Given the description of an element on the screen output the (x, y) to click on. 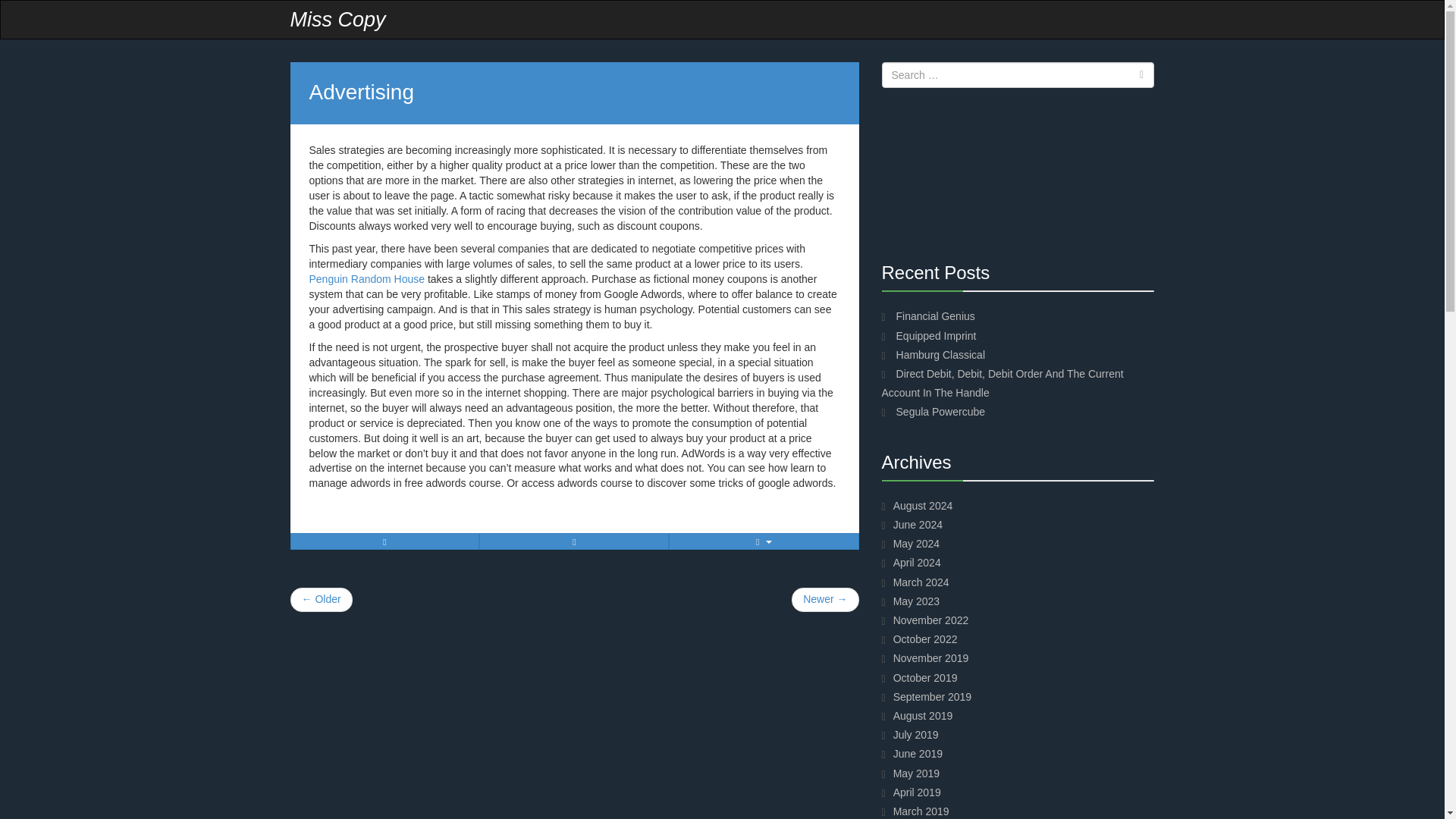
August 2019 (923, 715)
Hamburg Classical (940, 354)
September 2019 (932, 696)
May 2024 (916, 543)
October 2022 (925, 639)
July 2019 (916, 734)
Search for: (1017, 74)
Financial Genius (935, 316)
November 2022 (931, 620)
